Given the description of an element on the screen output the (x, y) to click on. 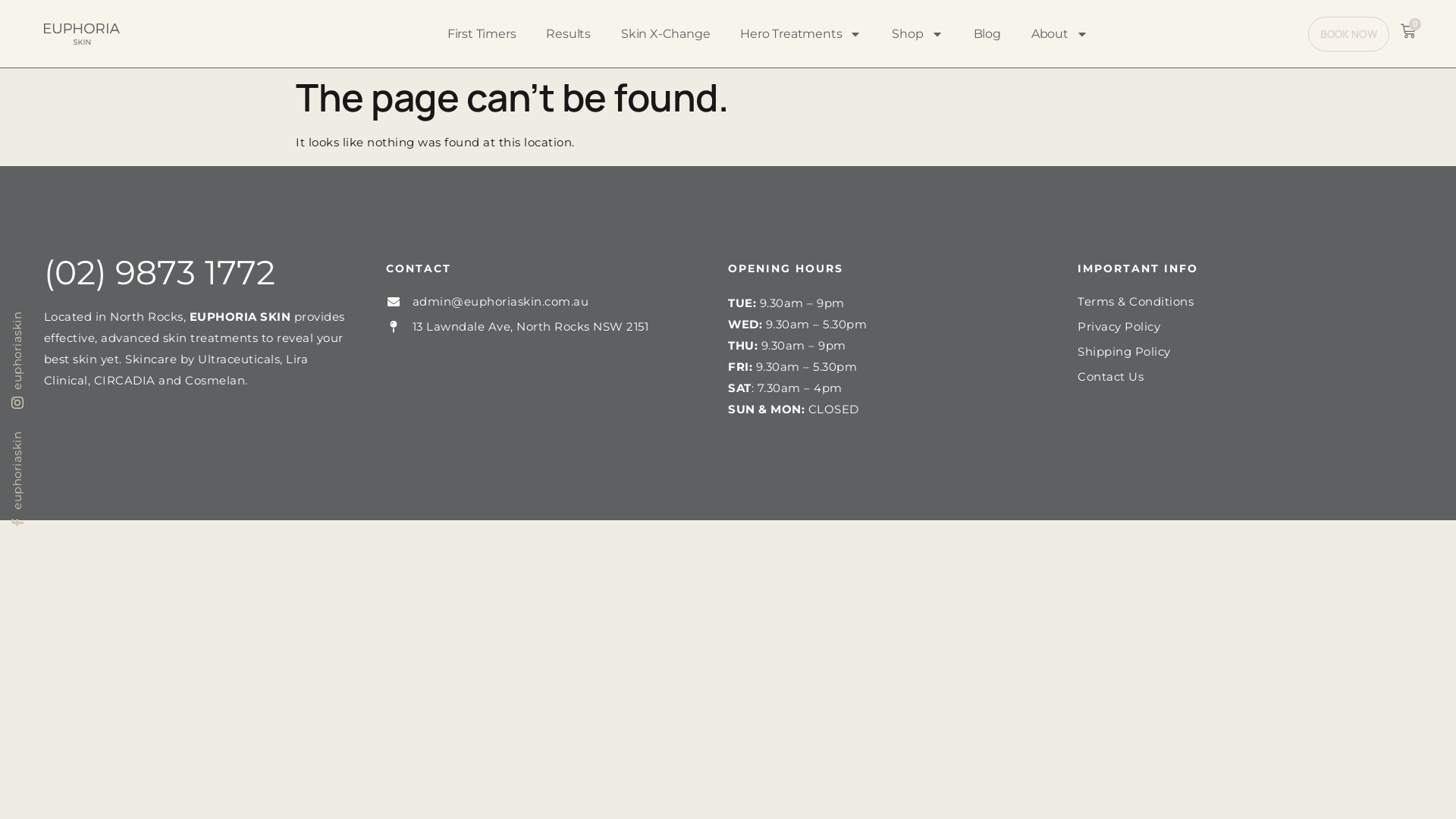
Shop Element type: text (916, 33)
Blog Element type: text (987, 33)
admin@euphoriaskin.com.au Element type: text (487, 301)
(02) 9873 1772 Element type: text (159, 271)
BOOK NOW Element type: text (1348, 33)
First Timers Element type: text (481, 33)
Privacy Policy Element type: text (1118, 326)
0 Element type: text (1407, 30)
Skin X-Change Element type: text (665, 33)
Results Element type: text (568, 33)
Hero Treatments Element type: text (800, 33)
euphoriaskin Element type: text (54, 321)
euphoriaskin Element type: text (54, 441)
13 Lawndale Ave, North Rocks NSW 2151 Element type: text (517, 326)
About Element type: text (1059, 33)
Contact Us Element type: text (1110, 376)
Terms & Conditions Element type: text (1135, 301)
Shipping Policy Element type: text (1123, 351)
